Given the description of an element on the screen output the (x, y) to click on. 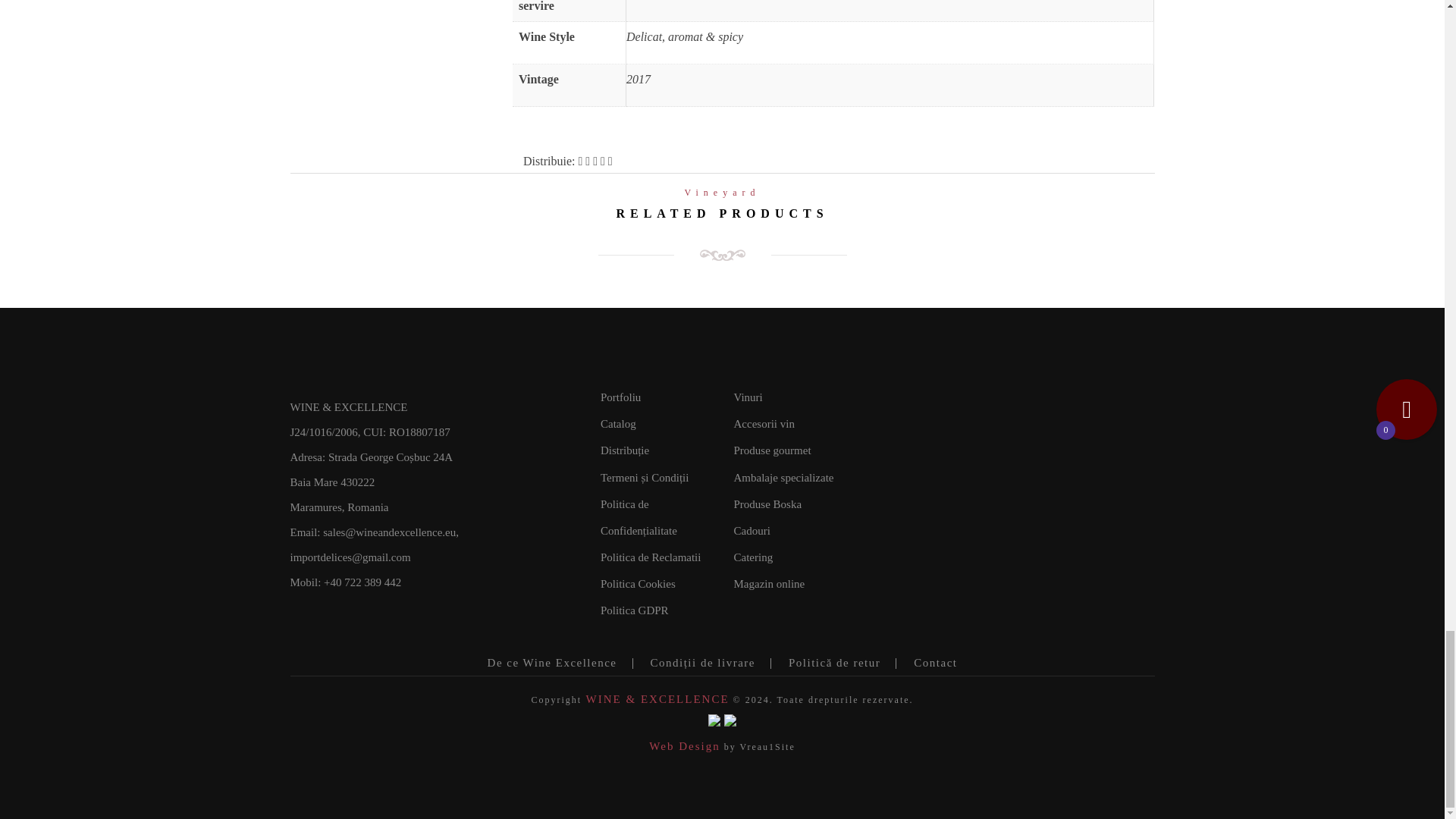
accesorii vin (763, 423)
vinuri si spumante (747, 397)
